Given the description of an element on the screen output the (x, y) to click on. 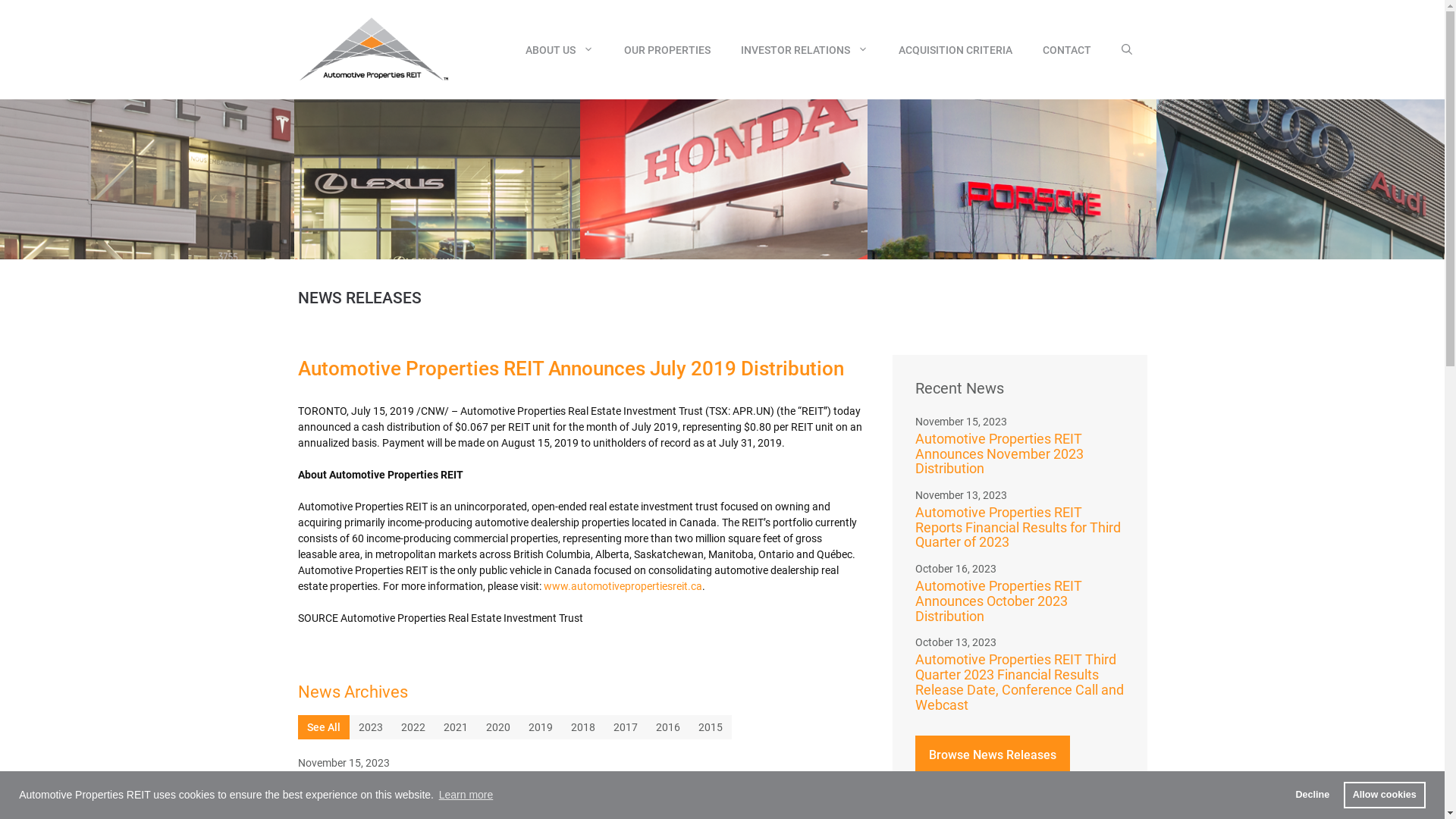
OUR PROPERTIES Element type: text (666, 49)
Browse News Releases Element type: text (992, 755)
Decline Element type: text (1312, 794)
CONTACT Element type: text (1065, 49)
www.automotivepropertiesreit.ca Element type: text (621, 586)
ABOUT US Element type: text (558, 49)
Learn more Element type: text (465, 794)
ACQUISITION CRITERIA Element type: text (954, 49)
INVESTOR RELATIONS Element type: text (803, 49)
Allow cookies Element type: text (1384, 794)
